Given the description of an element on the screen output the (x, y) to click on. 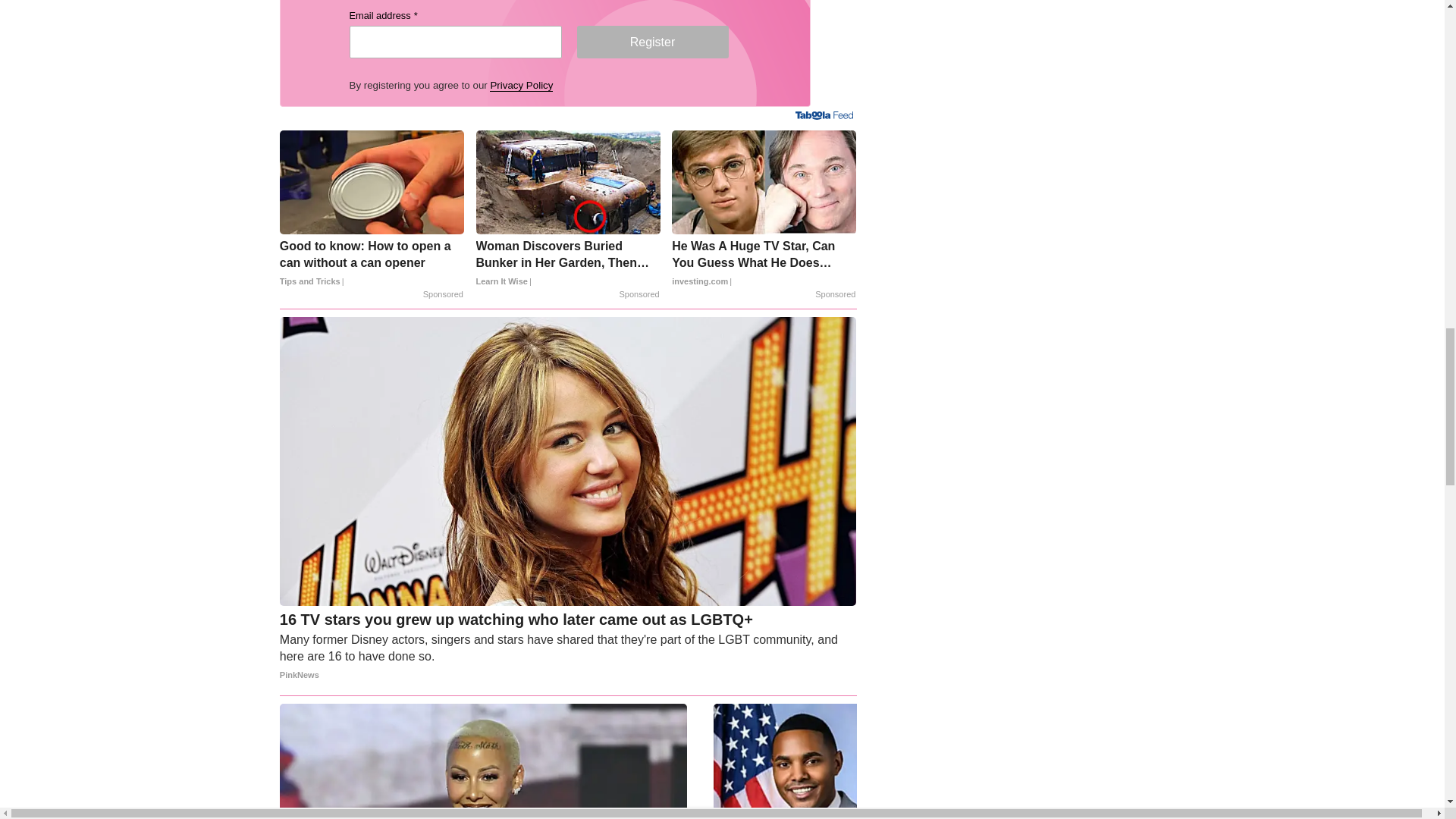
Good to know: How to open a can without a can opener (371, 263)
